Given the description of an element on the screen output the (x, y) to click on. 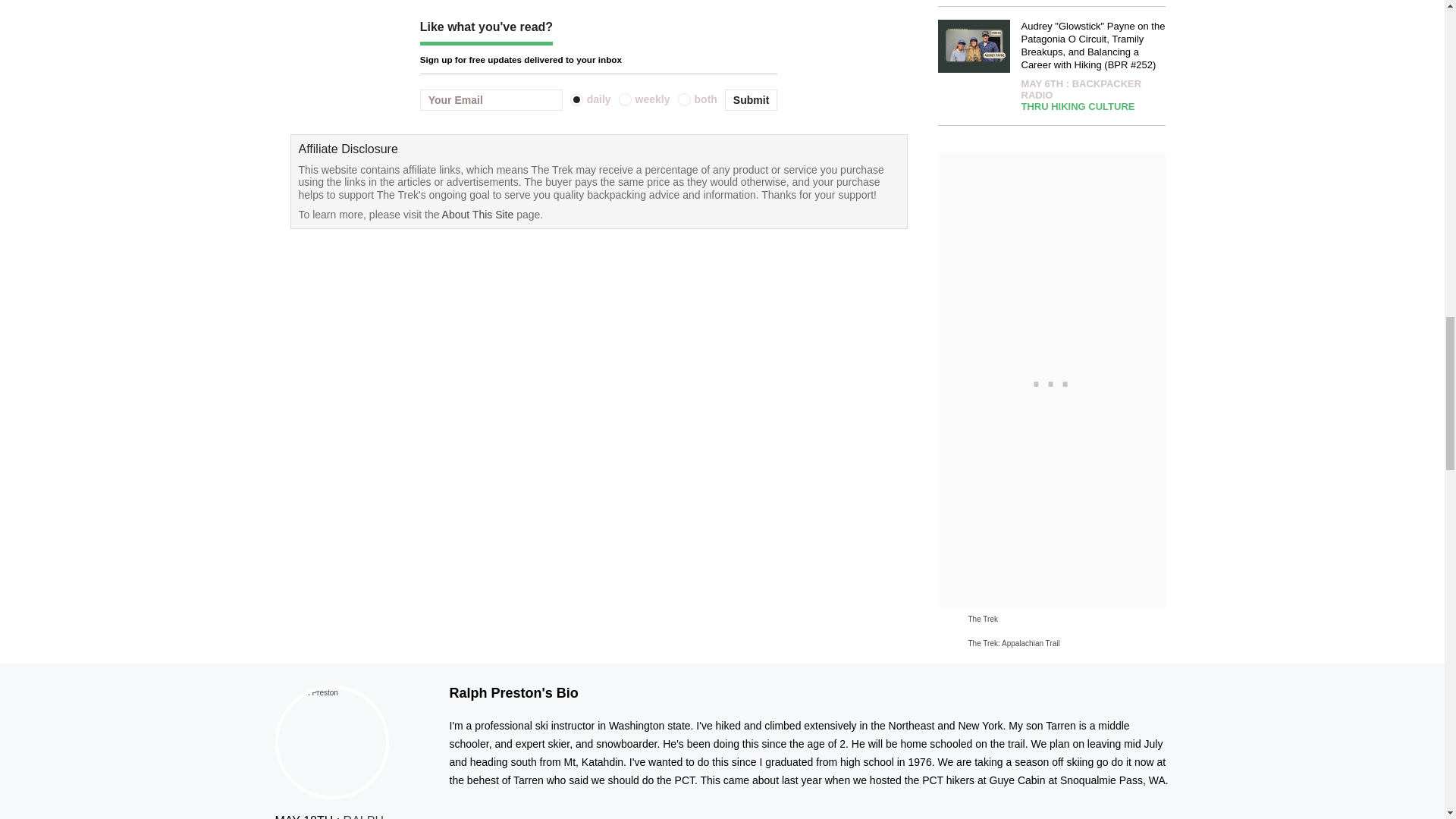
Sign Up (751, 99)
